Given the description of an element on the screen output the (x, y) to click on. 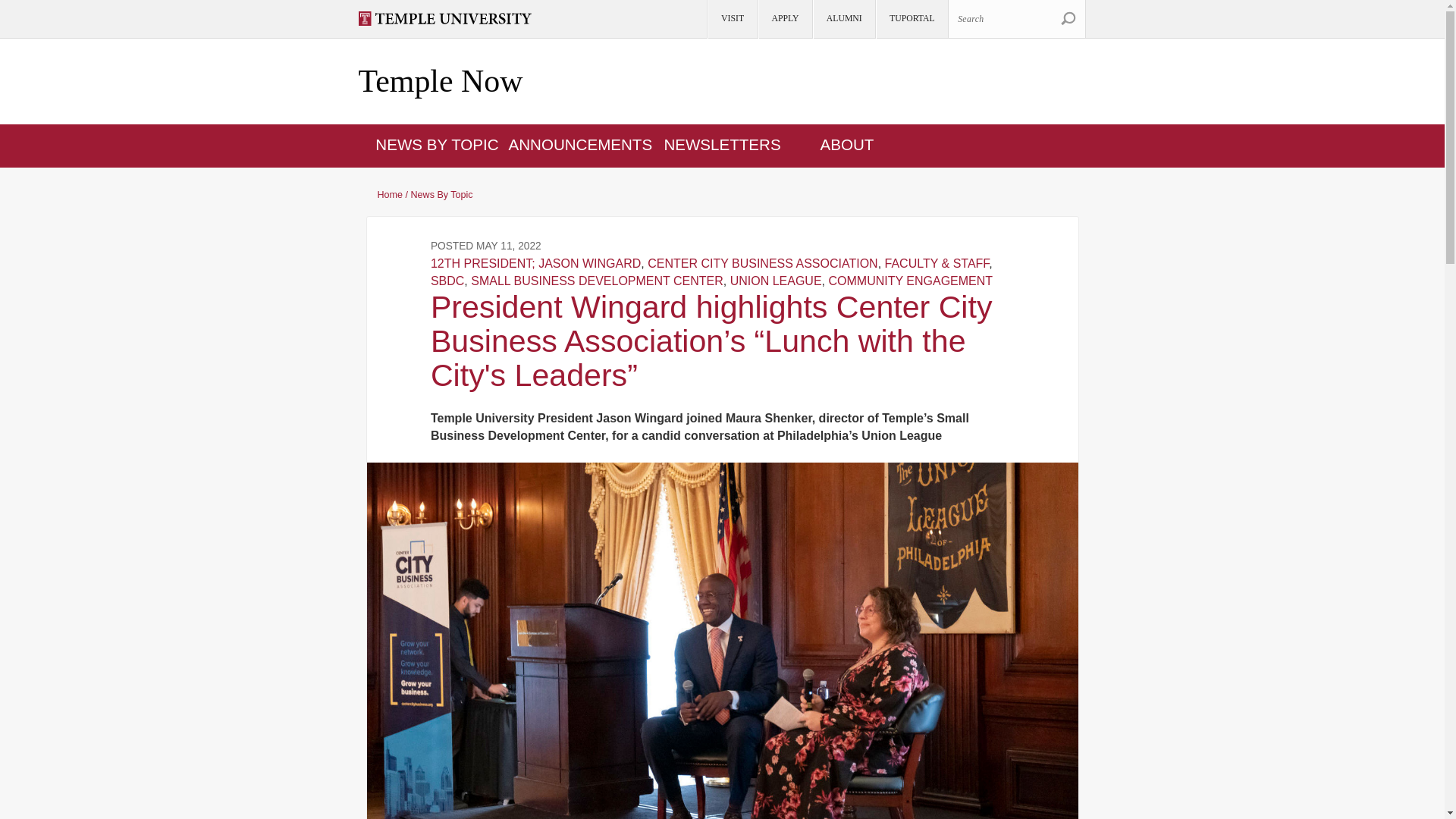
Search (1067, 18)
TUPORTAL (911, 19)
APPLY (784, 19)
ANNOUNCEMENTS (580, 144)
Search Site (1067, 18)
Search (1016, 18)
Search (1067, 18)
VISIT (731, 19)
Temple Now (440, 81)
ALUMNI (843, 19)
